Given the description of an element on the screen output the (x, y) to click on. 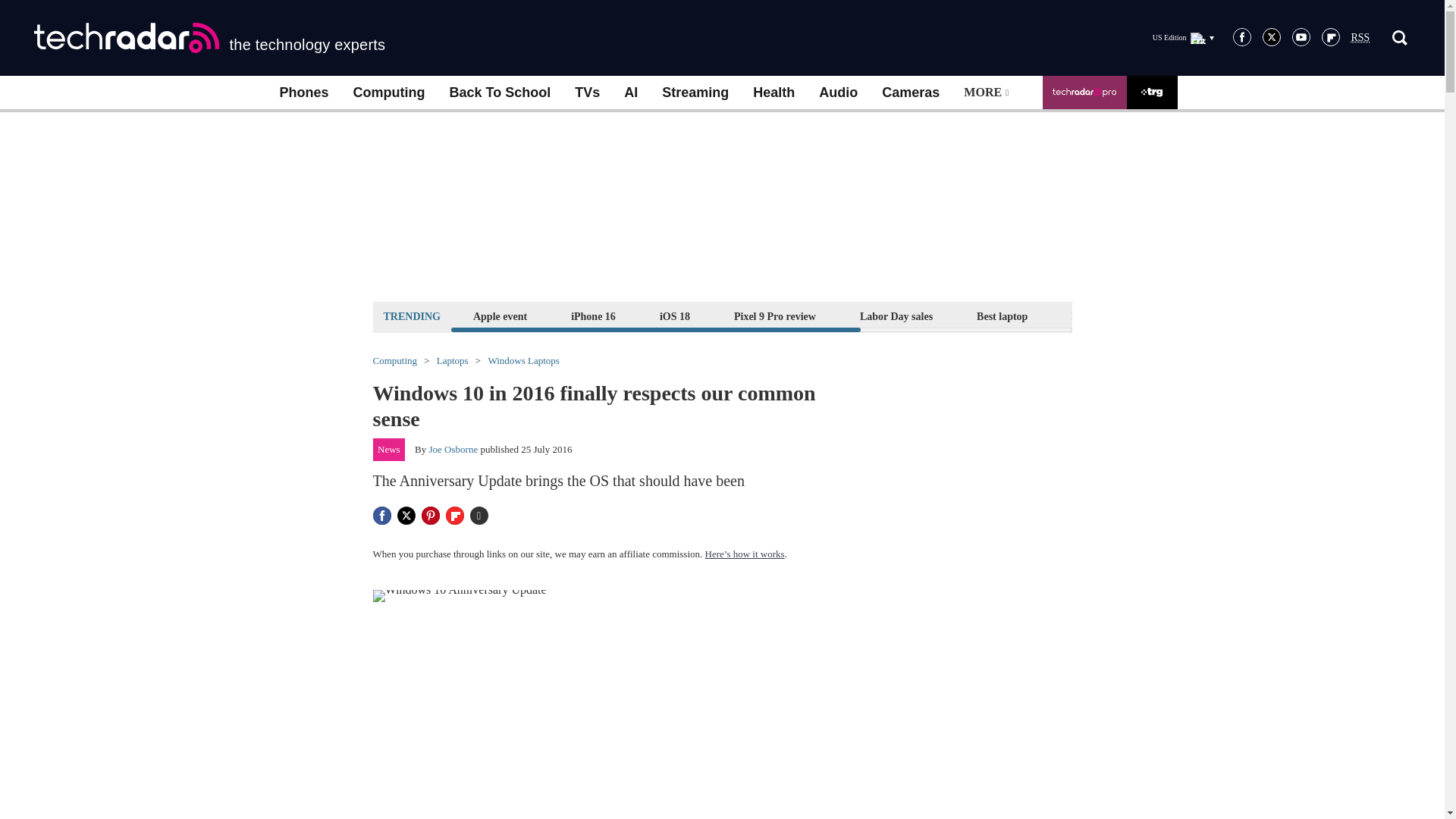
Back To School (499, 92)
US Edition (1182, 37)
Really Simple Syndication (1360, 37)
Health (773, 92)
TVs (586, 92)
Audio (837, 92)
AI (630, 92)
Streaming (695, 92)
Cameras (910, 92)
Computing (389, 92)
